Given the description of an element on the screen output the (x, y) to click on. 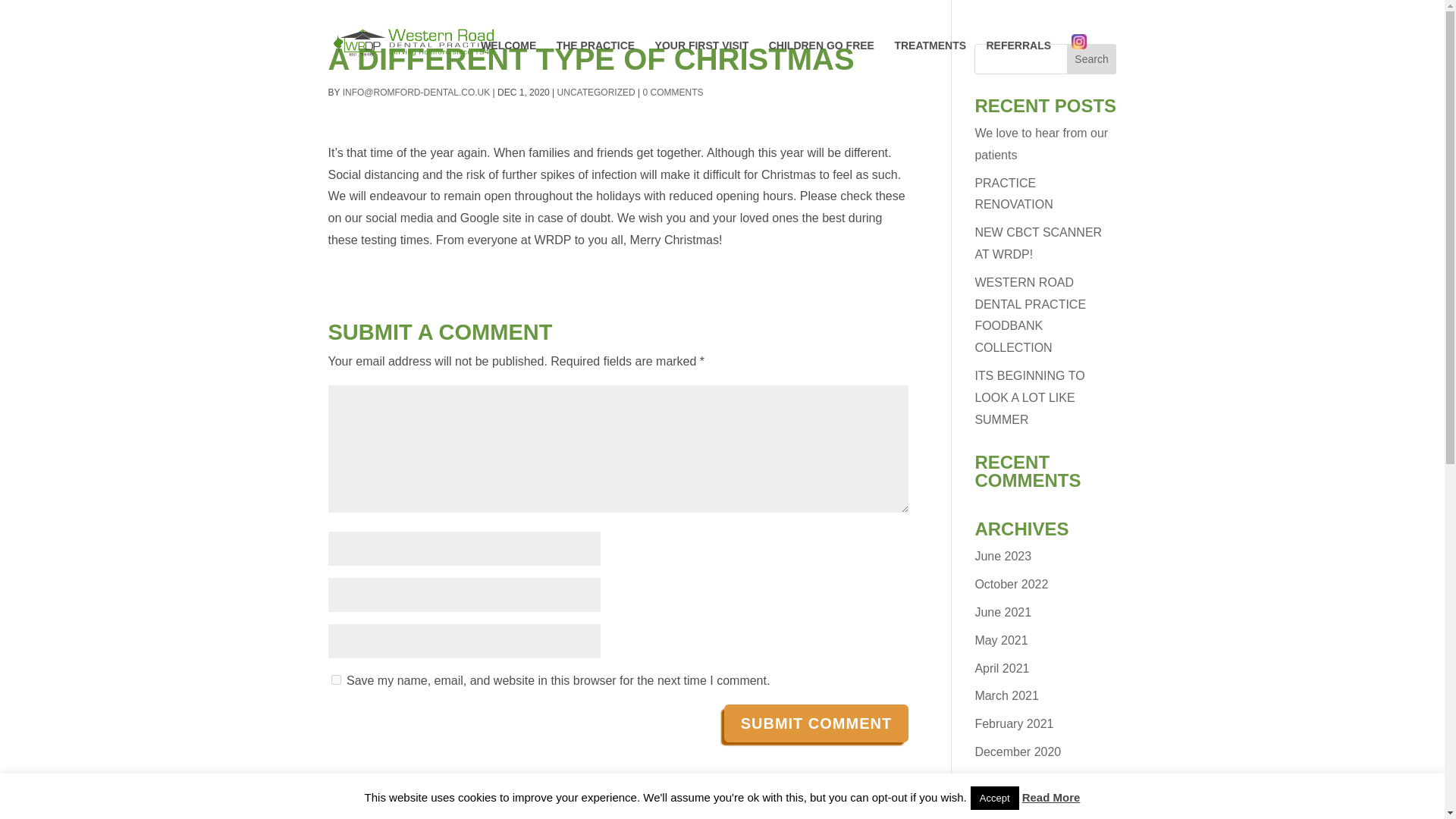
WELCOME (507, 62)
REFERRALS (1018, 62)
YOUR FIRST VISIT (702, 62)
WESTERN ROAD DENTAL PRACTICE FOODBANK COLLECTION (1030, 314)
December 2020 (1017, 751)
April 2021 (1001, 667)
Submit Comment (815, 723)
June 2023 (1002, 555)
PRACTICE RENOVATION (1013, 193)
ITS BEGINNING TO LOOK A LOT LIKE SUMMER (1029, 397)
